Given the description of an element on the screen output the (x, y) to click on. 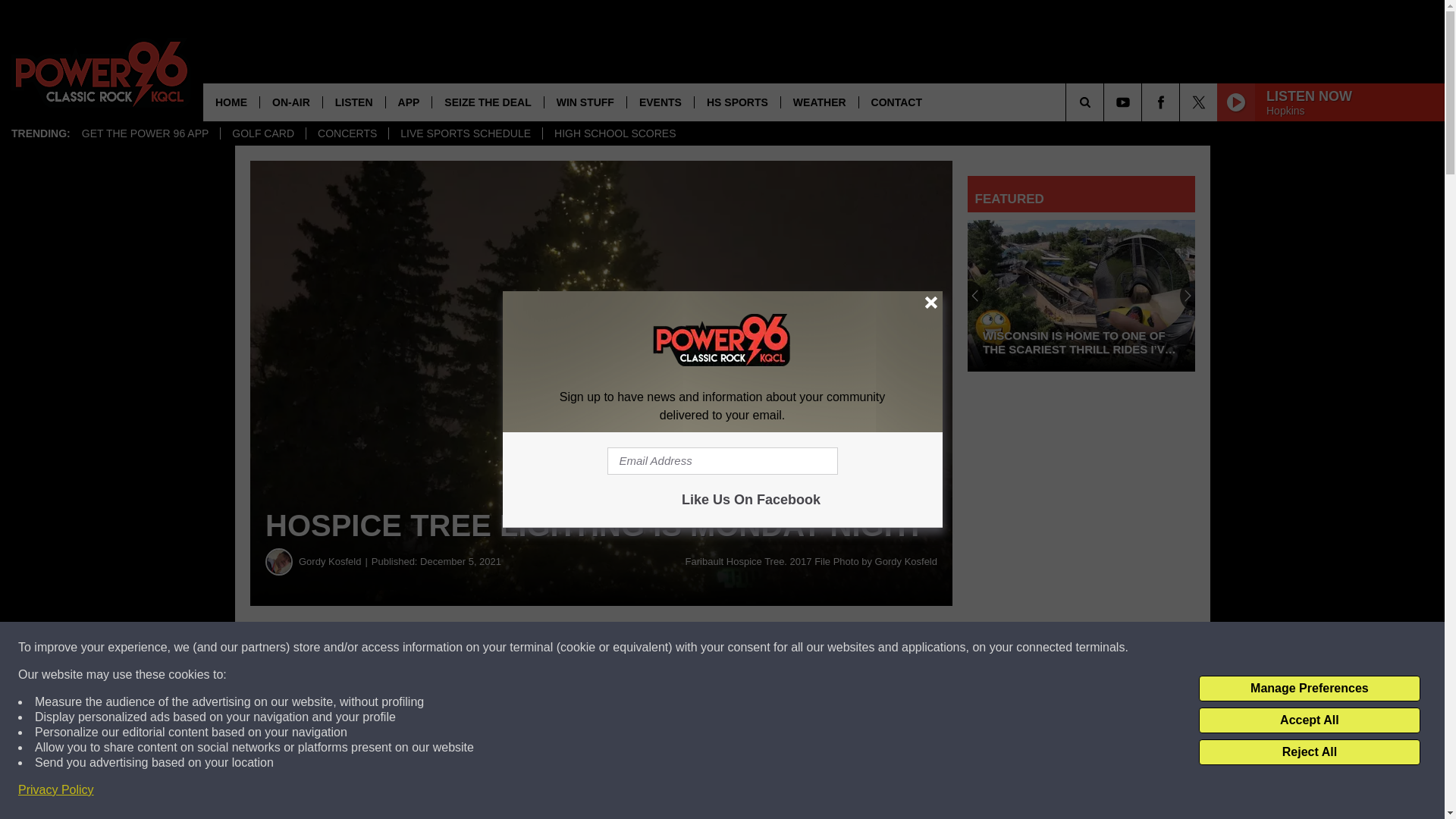
EVENTS (660, 102)
HOME (231, 102)
APP (408, 102)
SEARCH (1106, 102)
Email Address (722, 461)
SEIZE THE DEAL (486, 102)
LIVE SPORTS SCHEDULE (464, 133)
Privacy Policy (55, 789)
ON-AIR (290, 102)
HS SPORTS (737, 102)
LISTEN (353, 102)
Manage Preferences (1309, 688)
Reject All (1309, 751)
CONCERTS (346, 133)
GOLF CARD (262, 133)
